Given the description of an element on the screen output the (x, y) to click on. 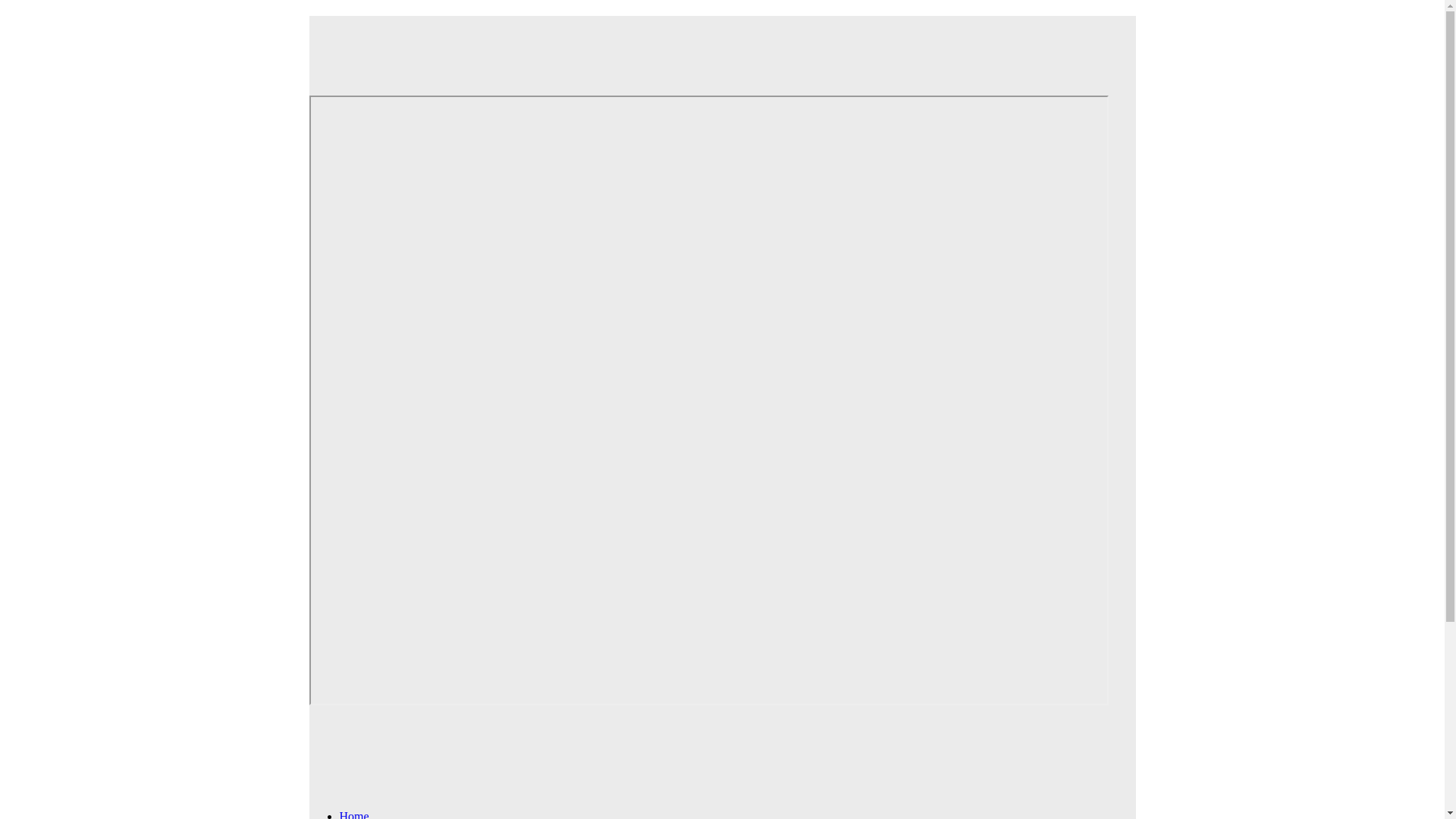
Web Hosting from Just Host Element type: text (707, 44)
